Given the description of an element on the screen output the (x, y) to click on. 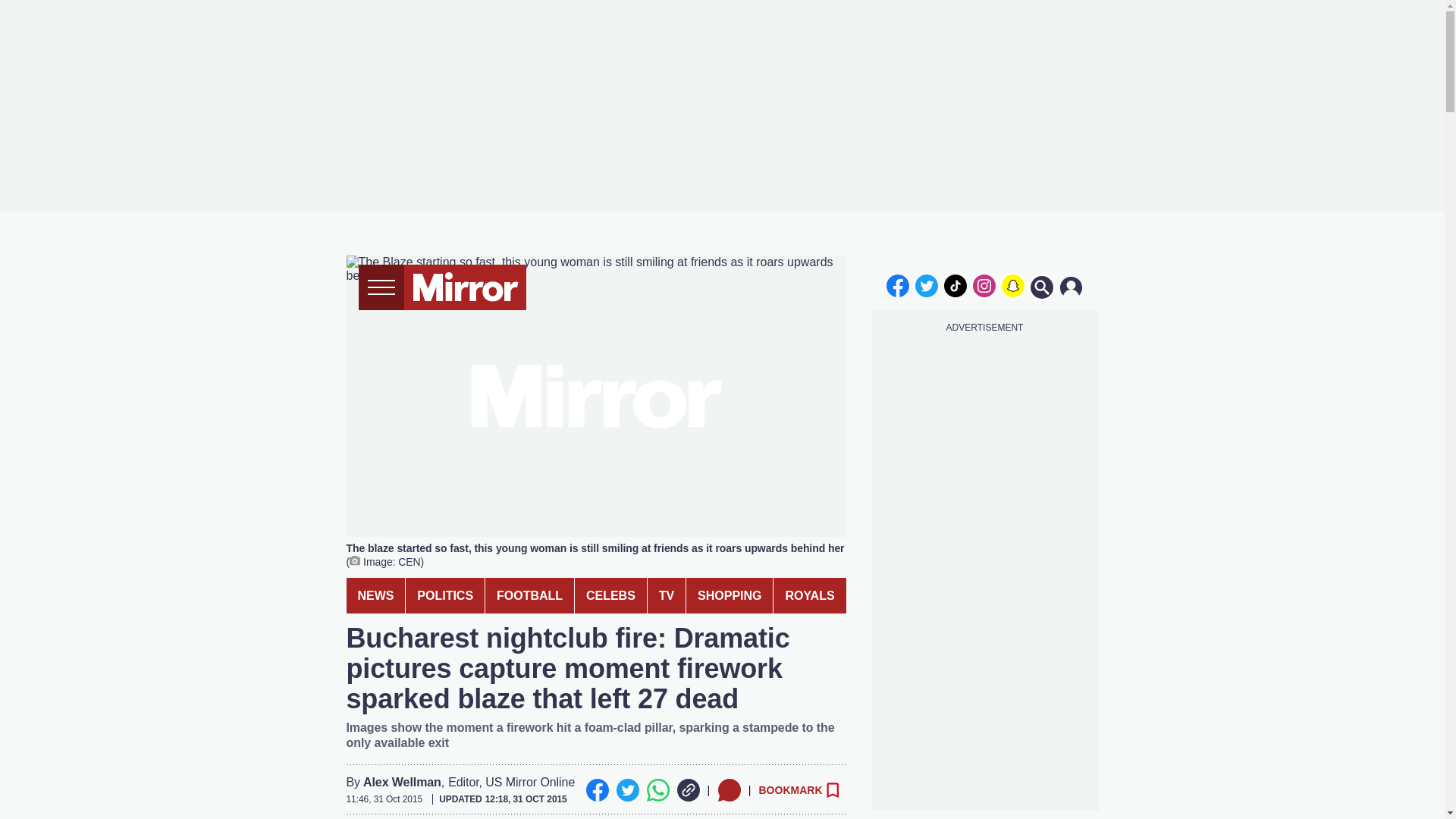
facebook (897, 285)
tiktok (955, 285)
CELEBS (610, 595)
Facebook (596, 789)
twitter (926, 285)
NEWS (375, 595)
snapchat (1012, 285)
POLITICS (445, 595)
instagram (984, 285)
FOOTBALL (528, 595)
